Given the description of an element on the screen output the (x, y) to click on. 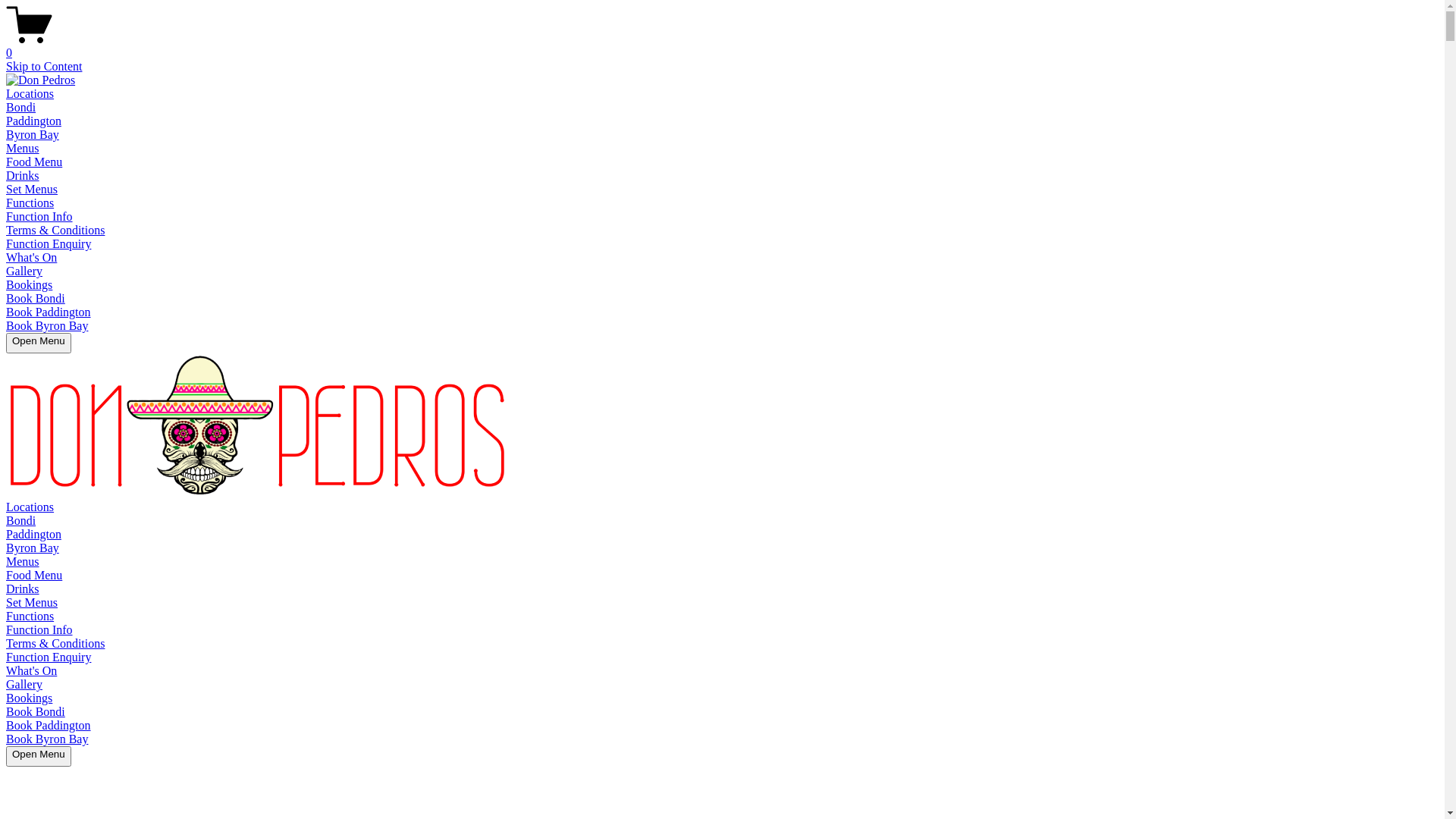
Function Enquiry Element type: text (48, 656)
Function Info Element type: text (39, 629)
What's On Element type: text (31, 670)
0 Element type: text (722, 45)
Open Menu Element type: text (38, 756)
Menus Element type: text (22, 147)
Book Bondi Element type: text (35, 297)
Book Paddington Element type: text (48, 724)
Functions Element type: text (29, 202)
Bondi Element type: text (20, 520)
Functions Element type: text (29, 615)
Drinks Element type: text (22, 588)
Drinks Element type: text (22, 175)
Locations Element type: text (29, 93)
Byron Bay Element type: text (32, 134)
Terms & Conditions Element type: text (55, 229)
Book Byron Bay Element type: text (46, 325)
Byron Bay Element type: text (32, 547)
Menus Element type: text (22, 561)
Bookings Element type: text (29, 697)
Book Bondi Element type: text (35, 711)
Book Paddington Element type: text (48, 311)
Food Menu Element type: text (34, 574)
Gallery Element type: text (24, 683)
Bookings Element type: text (29, 284)
Terms & Conditions Element type: text (55, 643)
What's On Element type: text (31, 257)
Function Info Element type: text (39, 216)
Open Menu Element type: text (38, 342)
Bondi Element type: text (20, 106)
Locations Element type: text (29, 506)
Paddington Element type: text (33, 533)
Function Enquiry Element type: text (48, 243)
Set Menus Element type: text (31, 188)
Paddington Element type: text (33, 120)
Gallery Element type: text (24, 270)
Food Menu Element type: text (34, 161)
Set Menus Element type: text (31, 602)
Skip to Content Element type: text (43, 65)
Book Byron Bay Element type: text (46, 738)
